Given the description of an element on the screen output the (x, y) to click on. 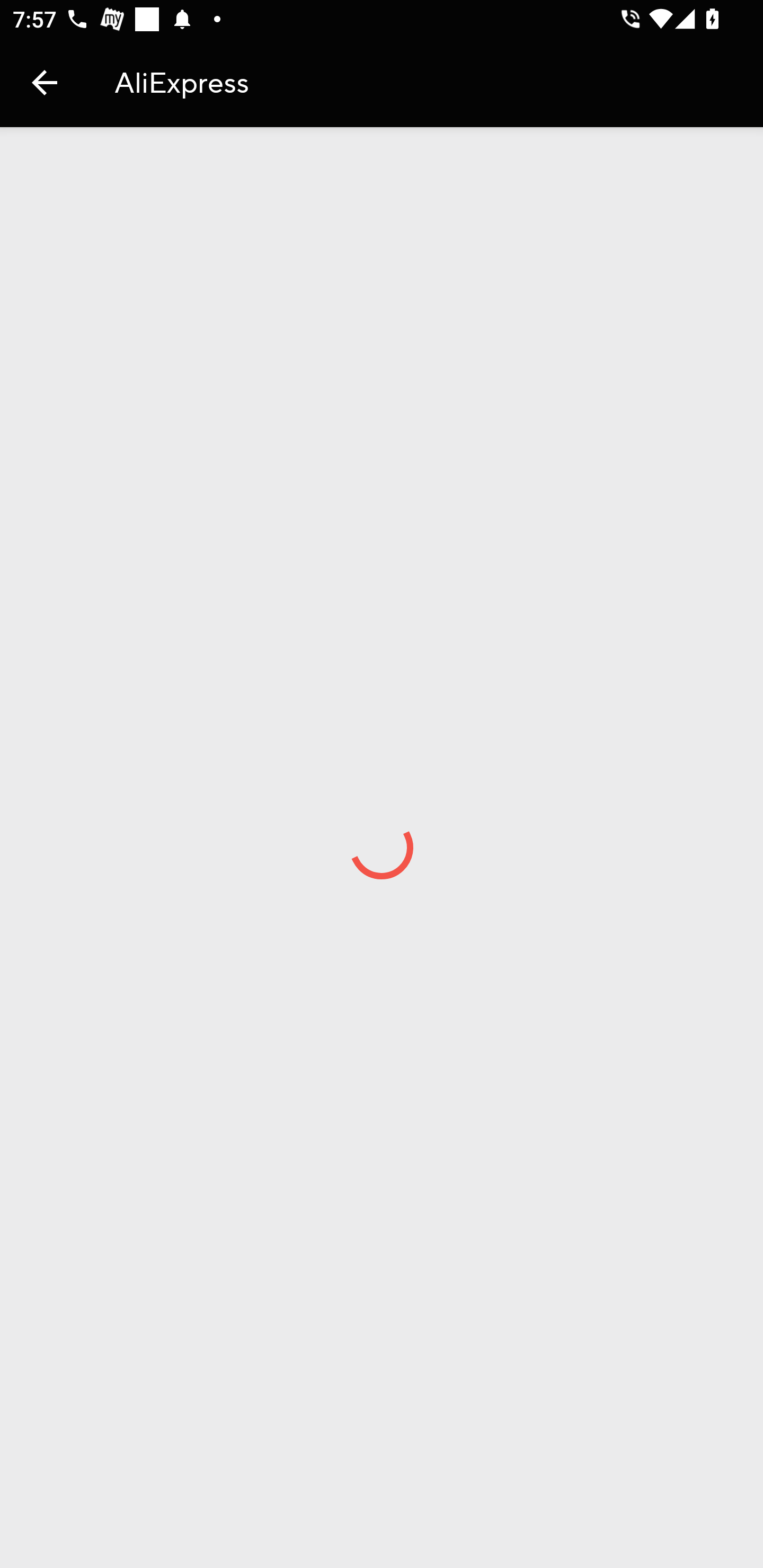
Navigate up (77, 82)
